Given the description of an element on the screen output the (x, y) to click on. 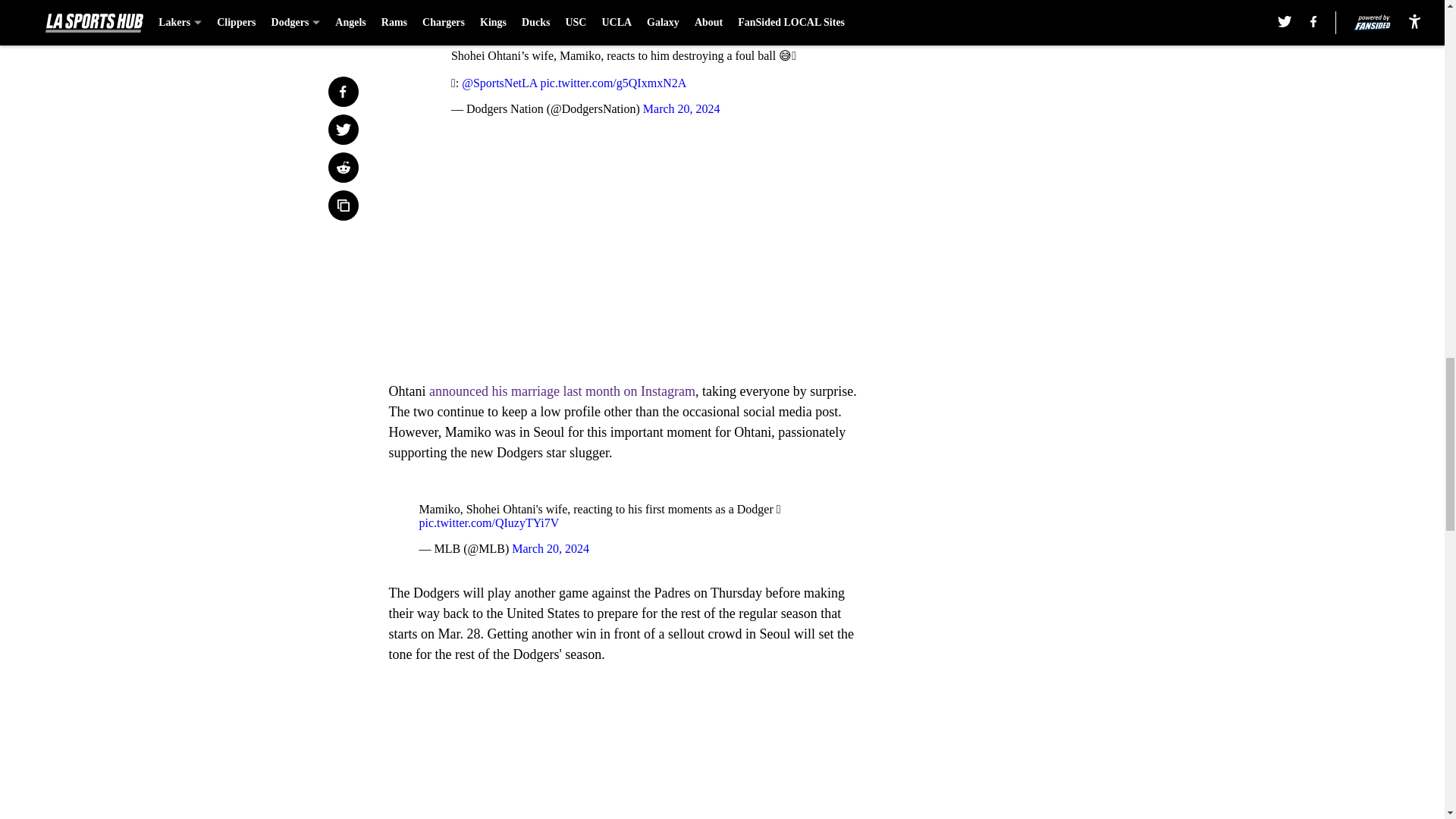
March 20, 2024 (681, 108)
March 20, 2024 (550, 548)
announced his marriage last month on Instagram (562, 391)
